Given the description of an element on the screen output the (x, y) to click on. 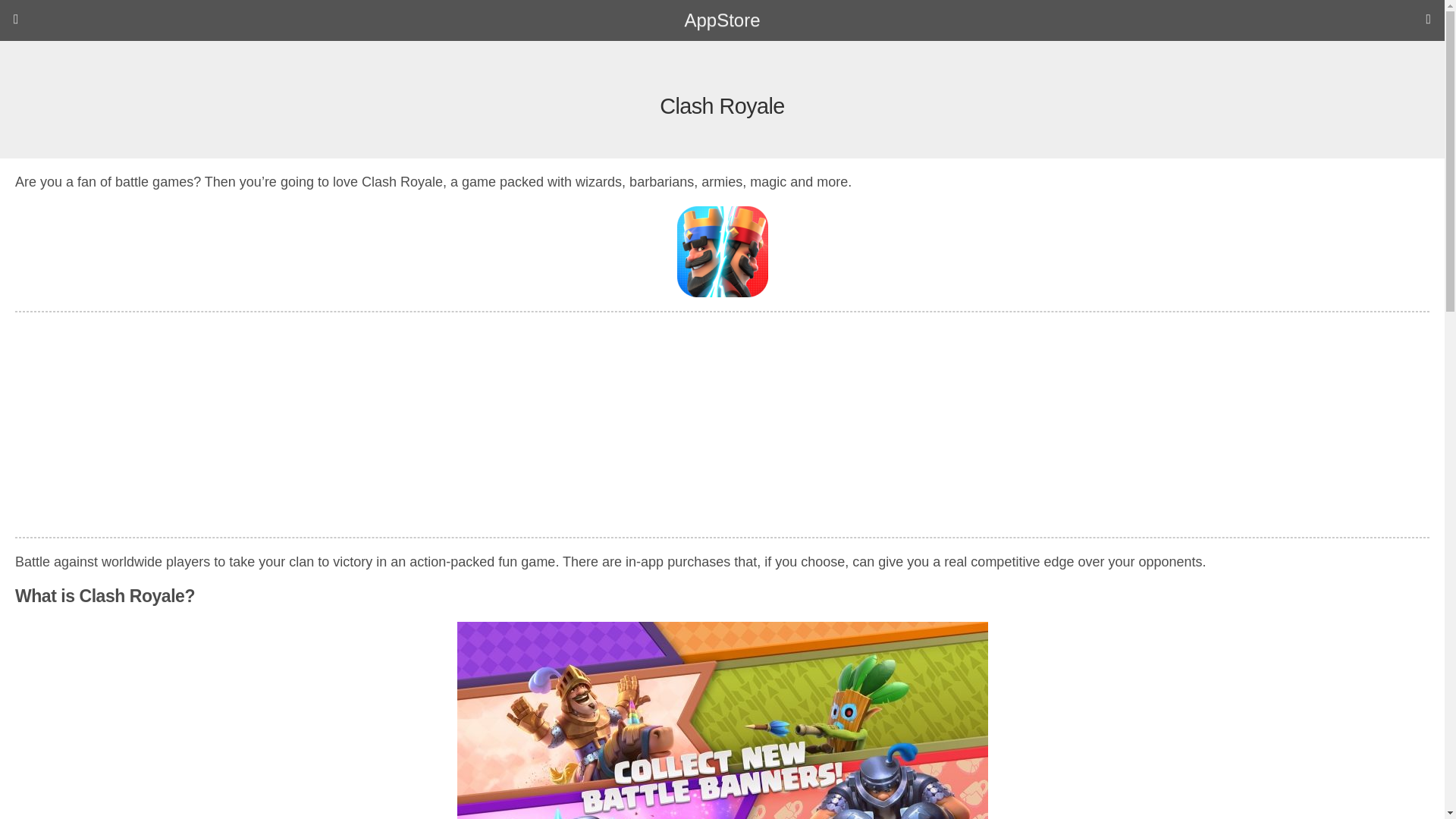
Search (1230, 54)
AppStore (721, 20)
